Given the description of an element on the screen output the (x, y) to click on. 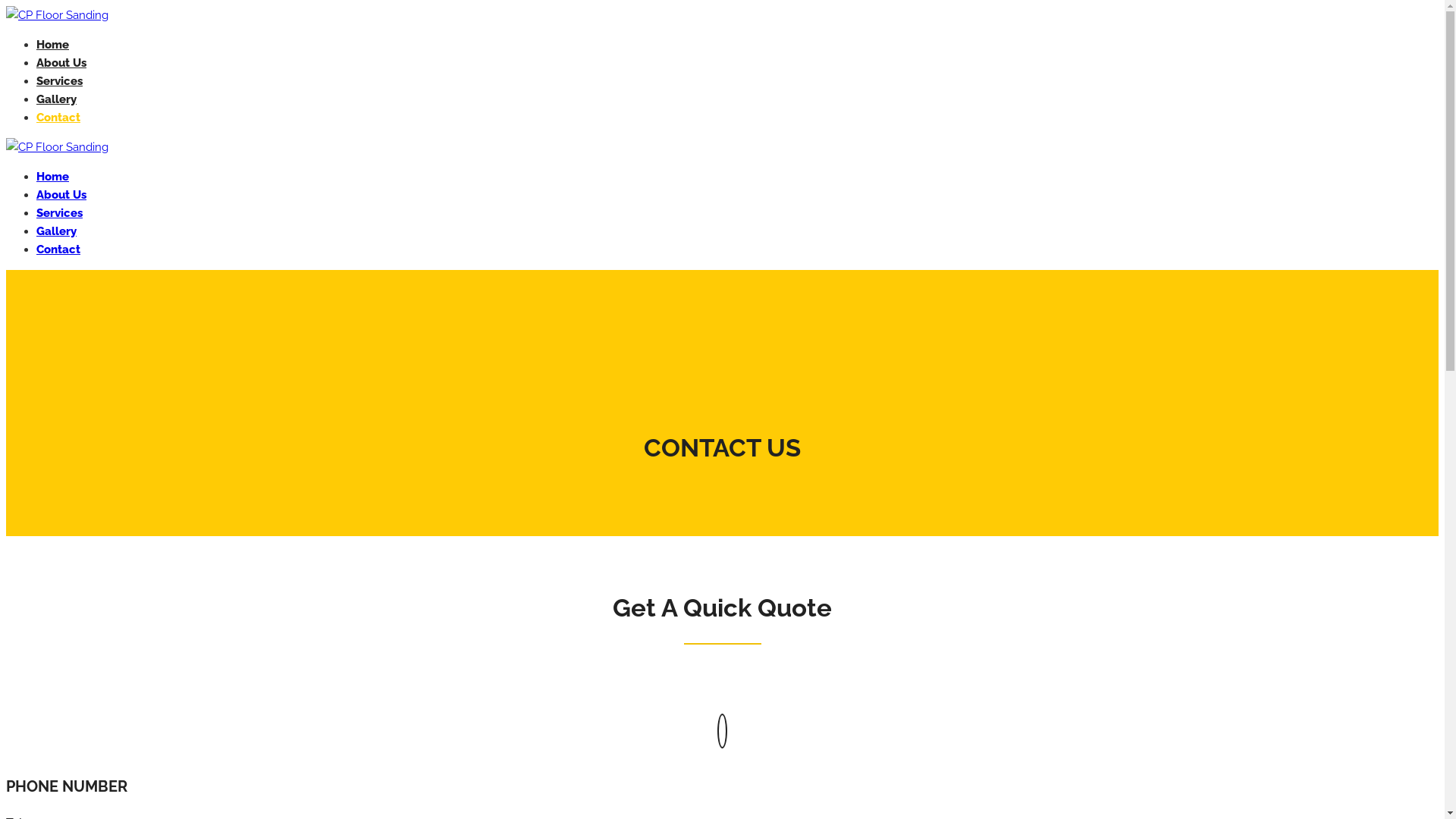
Home Element type: text (52, 44)
Home Element type: text (52, 176)
About Us Element type: text (61, 194)
About Us Element type: text (61, 62)
Services Element type: text (59, 80)
Gallery Element type: text (56, 231)
Gallery Element type: text (56, 99)
Contact Element type: text (58, 117)
Contact Element type: text (58, 249)
Services Element type: text (59, 212)
